Given the description of an element on the screen output the (x, y) to click on. 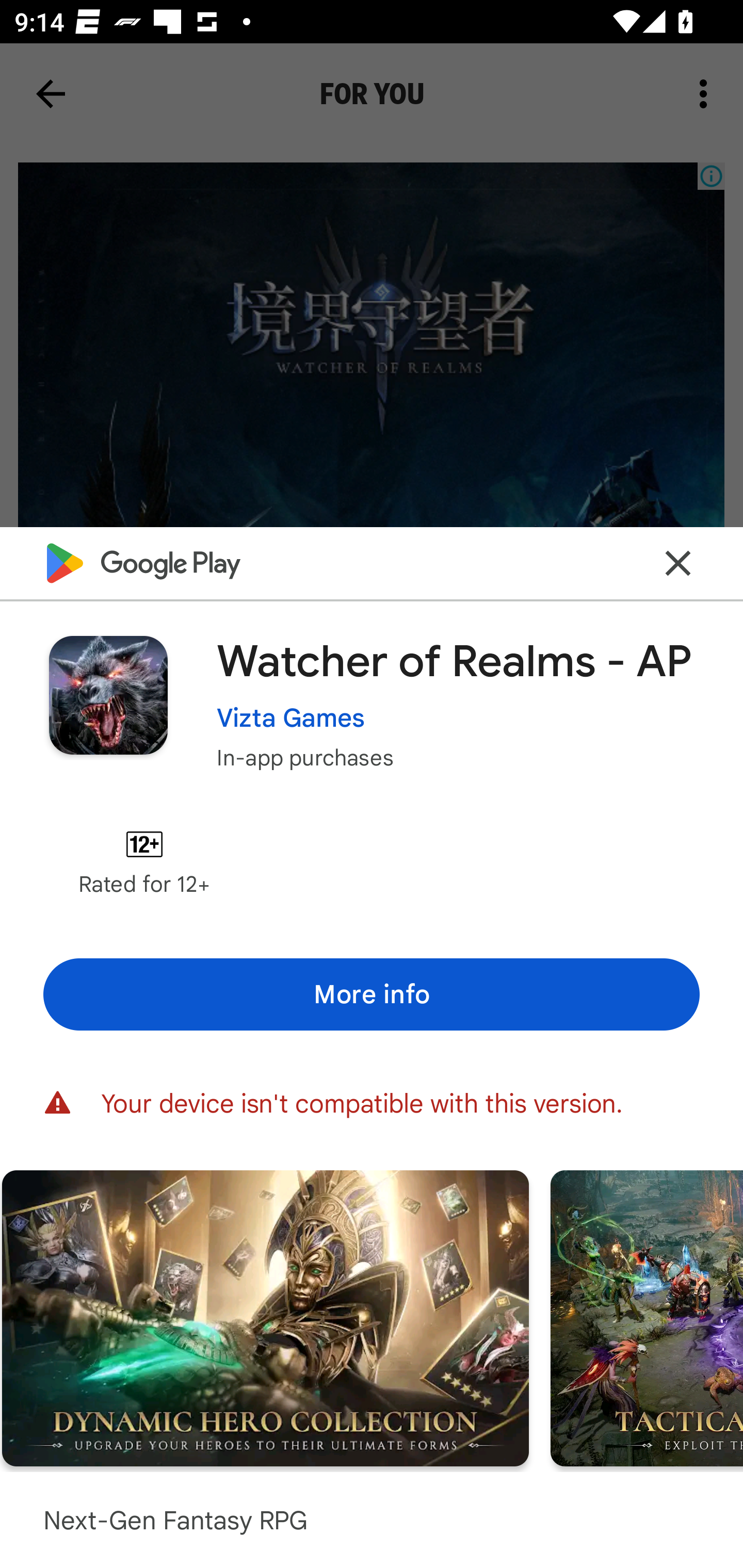
Close (677, 562)
Vizta Games (290, 716)
More info (371, 994)
Screenshot "2" of "7" (265, 1317)
Screenshot "3" of "7" (646, 1317)
